Given the description of an element on the screen output the (x, y) to click on. 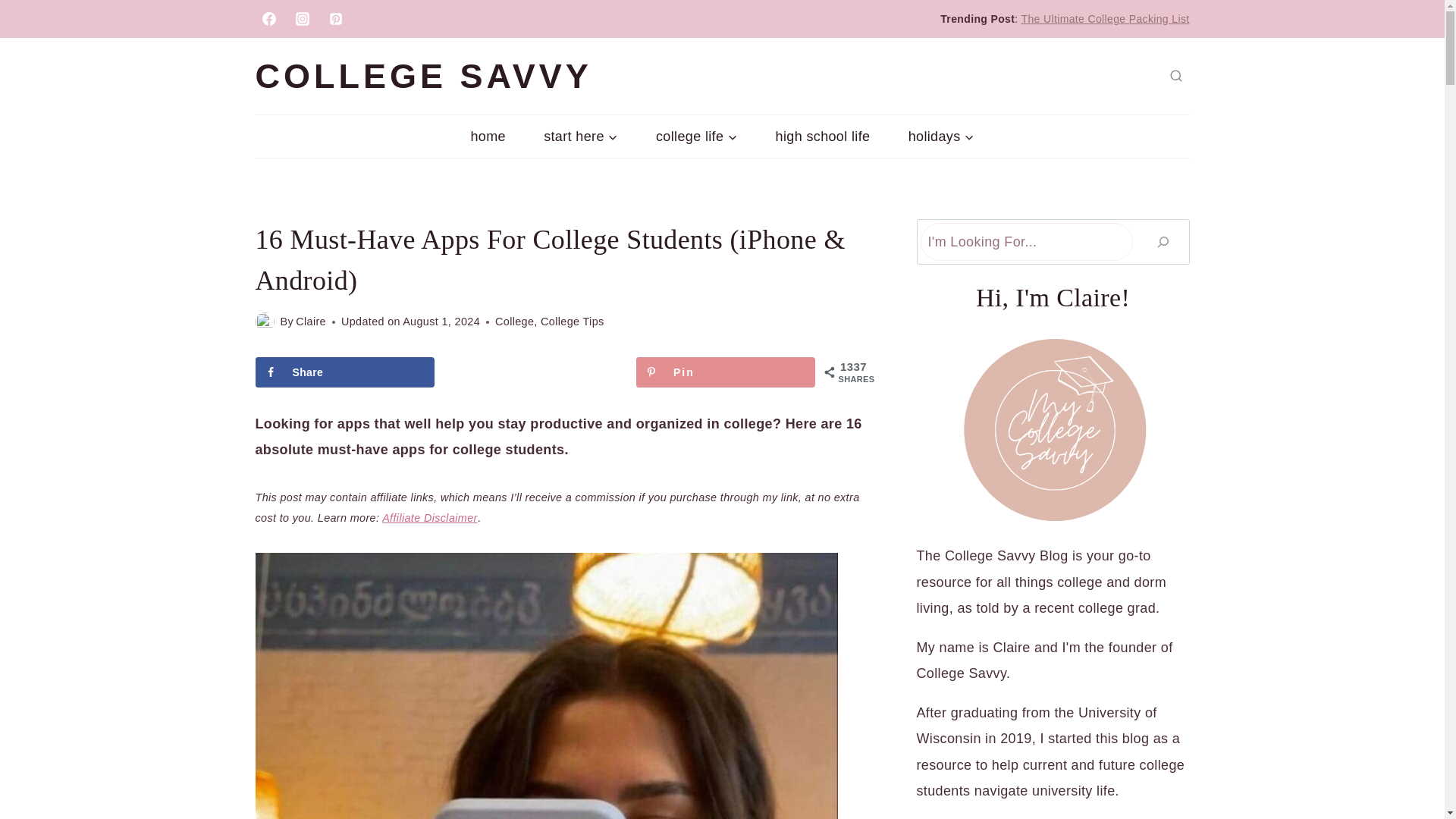
home (487, 136)
Share on Facebook (343, 372)
Save to Pinterest (725, 372)
The Ultimate College Packing List (1105, 19)
high school life (821, 136)
start here (580, 136)
Claire (310, 321)
College Tips (572, 321)
College (514, 321)
Pin (725, 372)
Share on X (534, 372)
Tweet (534, 372)
holidays (940, 136)
COLLEGE SAVVY (422, 76)
Share (343, 372)
